Given the description of an element on the screen output the (x, y) to click on. 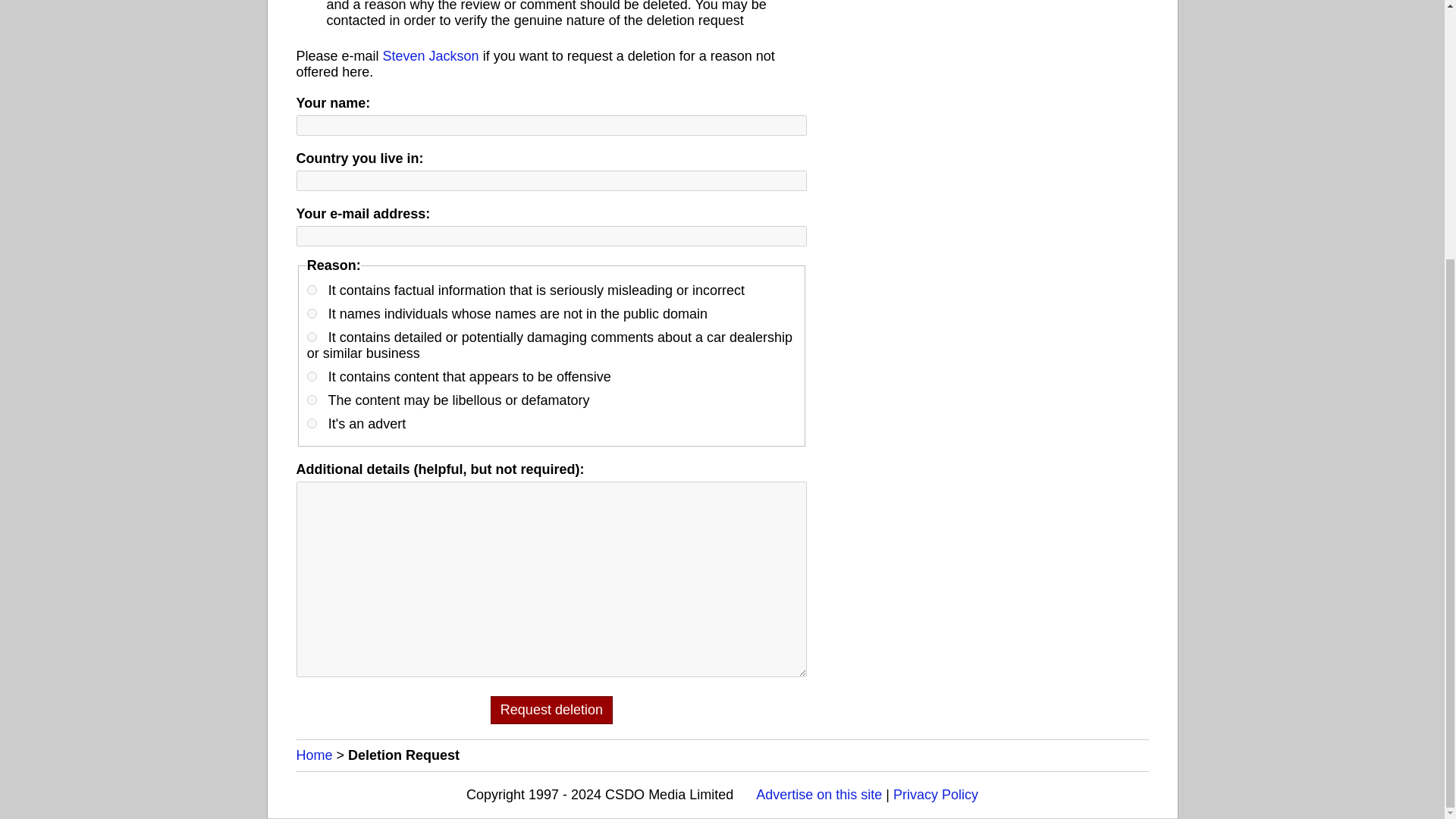
Advert (312, 423)
Defamatory (312, 399)
Steven Jackson (430, 55)
Request deletion (551, 709)
Privacy Policy (935, 794)
Home (313, 754)
Advertise on this site (818, 794)
Dealer (312, 337)
Request deletion (551, 709)
Offensive (312, 376)
Individuals named (312, 313)
False information (312, 289)
